Given the description of an element on the screen output the (x, y) to click on. 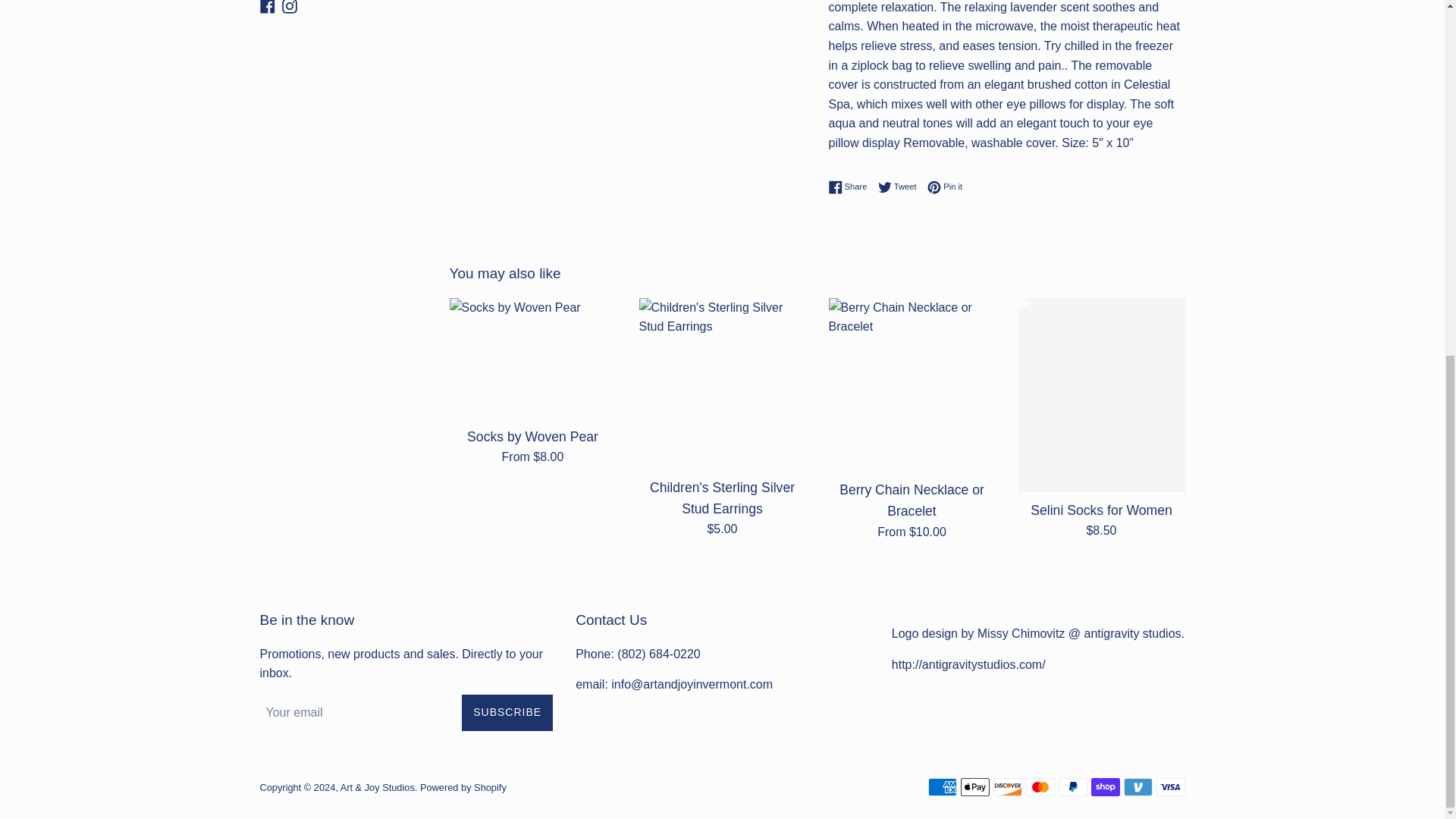
Socks by Woven Pear (531, 358)
Visa (1170, 787)
Shop Pay (1104, 787)
Share on Facebook (851, 187)
Mastercard (1039, 787)
American Express (942, 787)
Discover (1007, 787)
Venmo (1138, 787)
PayPal (1072, 787)
Tweet on Twitter (900, 187)
Berry Chain Necklace or Bracelet (911, 385)
Pin on Pinterest (944, 187)
Apple Pay (973, 787)
Children's Sterling Silver Stud Earrings (722, 383)
